Given the description of an element on the screen output the (x, y) to click on. 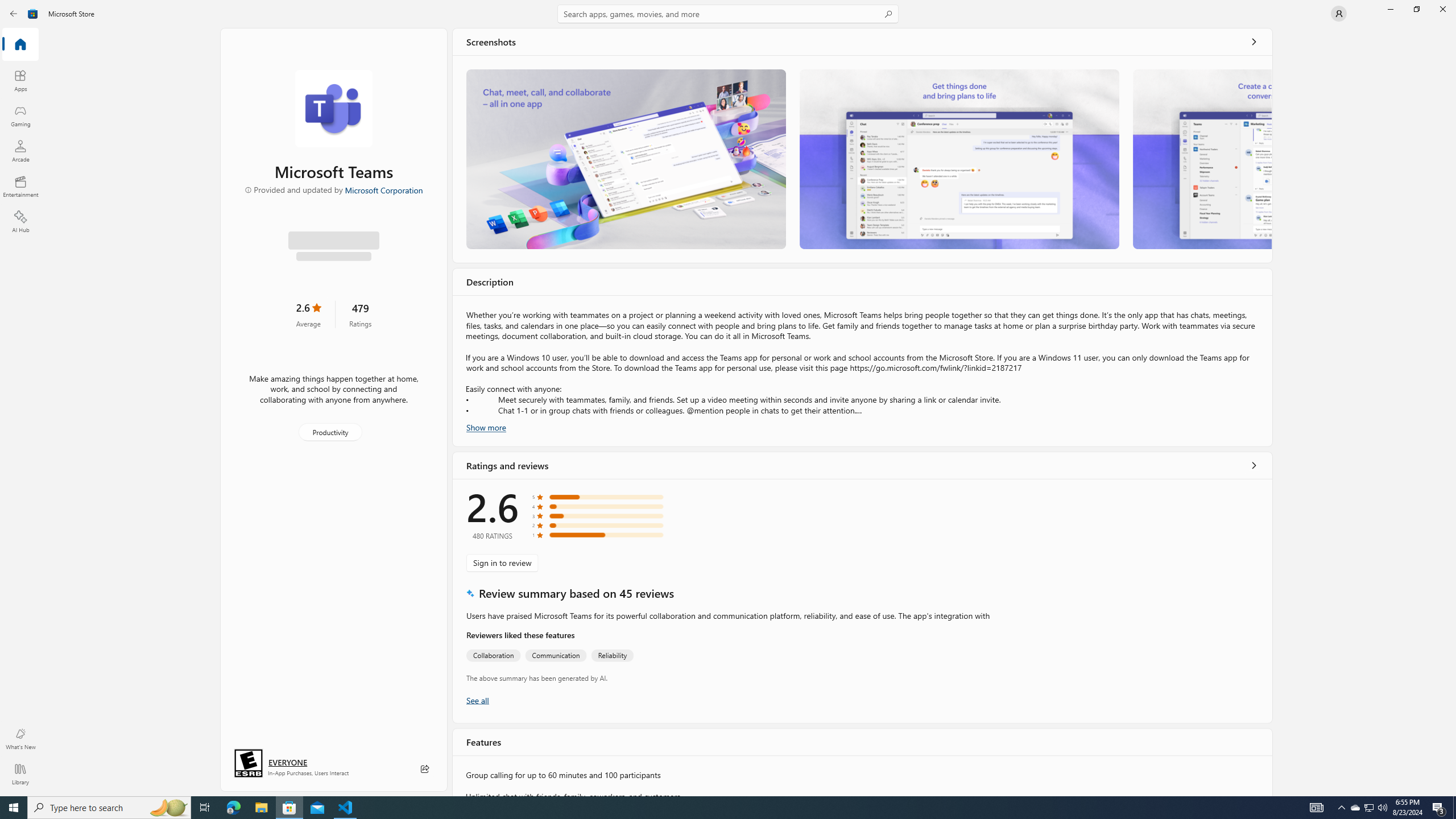
Home (20, 45)
Age rating: EVERYONE. Click for more information. (287, 762)
Back (13, 13)
Arcade (20, 150)
AI Hub (20, 221)
Apps (20, 80)
Sign in to review (501, 562)
Show all ratings and reviews (1253, 465)
Class: Image (32, 13)
User profile (1338, 13)
Minimize Microsoft Store (1390, 9)
Close Microsoft Store (1442, 9)
Restore Microsoft Store (1416, 9)
AutomationID: NavigationControl (728, 398)
Screenshot 3 (1201, 158)
